Given the description of an element on the screen output the (x, y) to click on. 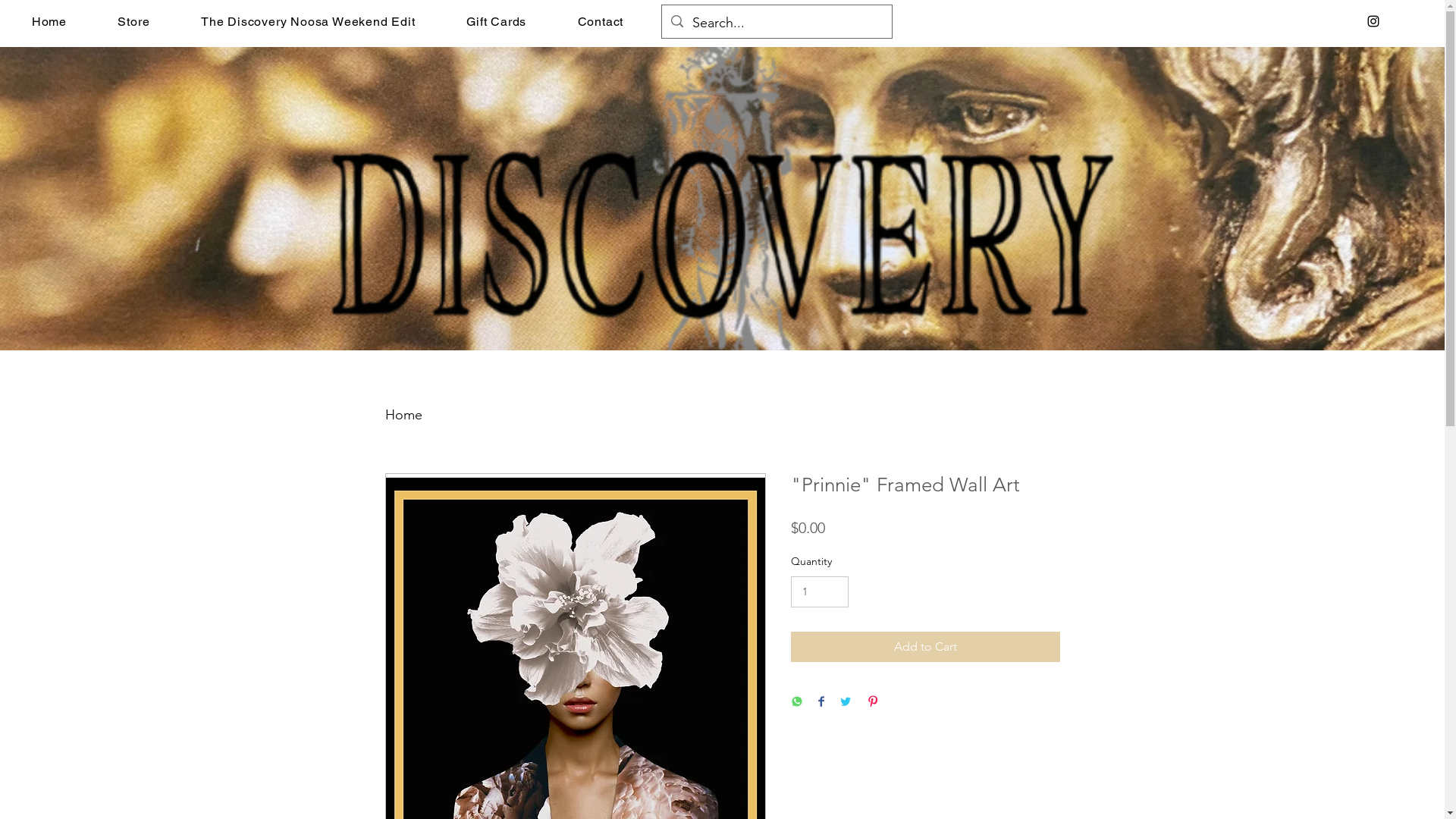
Home Element type: text (403, 414)
Gift Cards Element type: text (496, 21)
Add to Cart Element type: text (924, 646)
Home Element type: text (49, 21)
Contact Element type: text (600, 21)
Store Element type: text (133, 21)
The Discovery Noosa Weekend Edit Element type: text (307, 21)
